Given the description of an element on the screen output the (x, y) to click on. 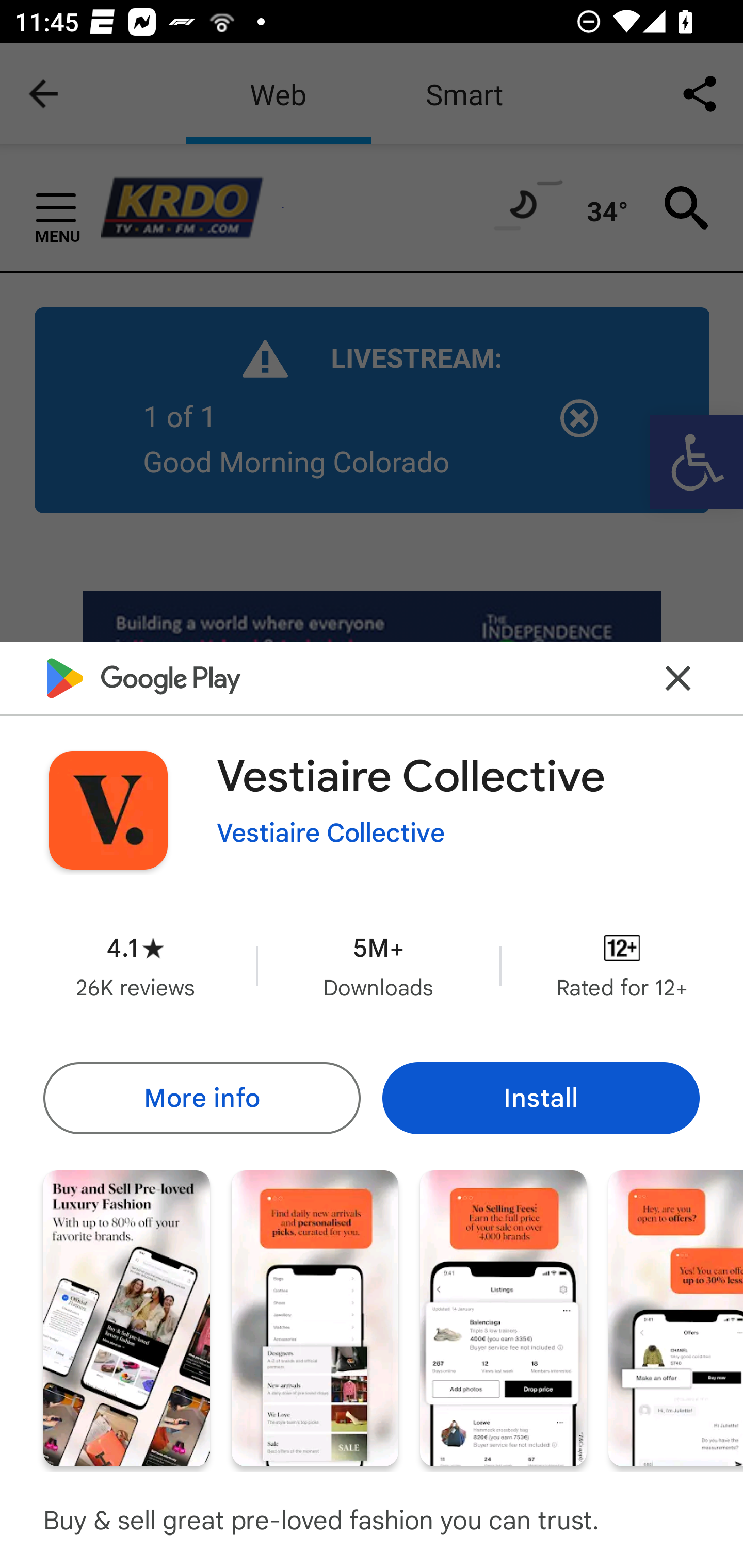
Close (677, 678)
Image of app or game icon for Vestiaire Collective (108, 809)
Vestiaire Collective (330, 832)
More info (201, 1097)
Install (540, 1097)
Screenshot "1" of "8" (126, 1317)
Screenshot "2" of "8" (314, 1317)
Screenshot "3" of "8" (502, 1317)
Screenshot "4" of "8" (675, 1317)
